Given the description of an element on the screen output the (x, y) to click on. 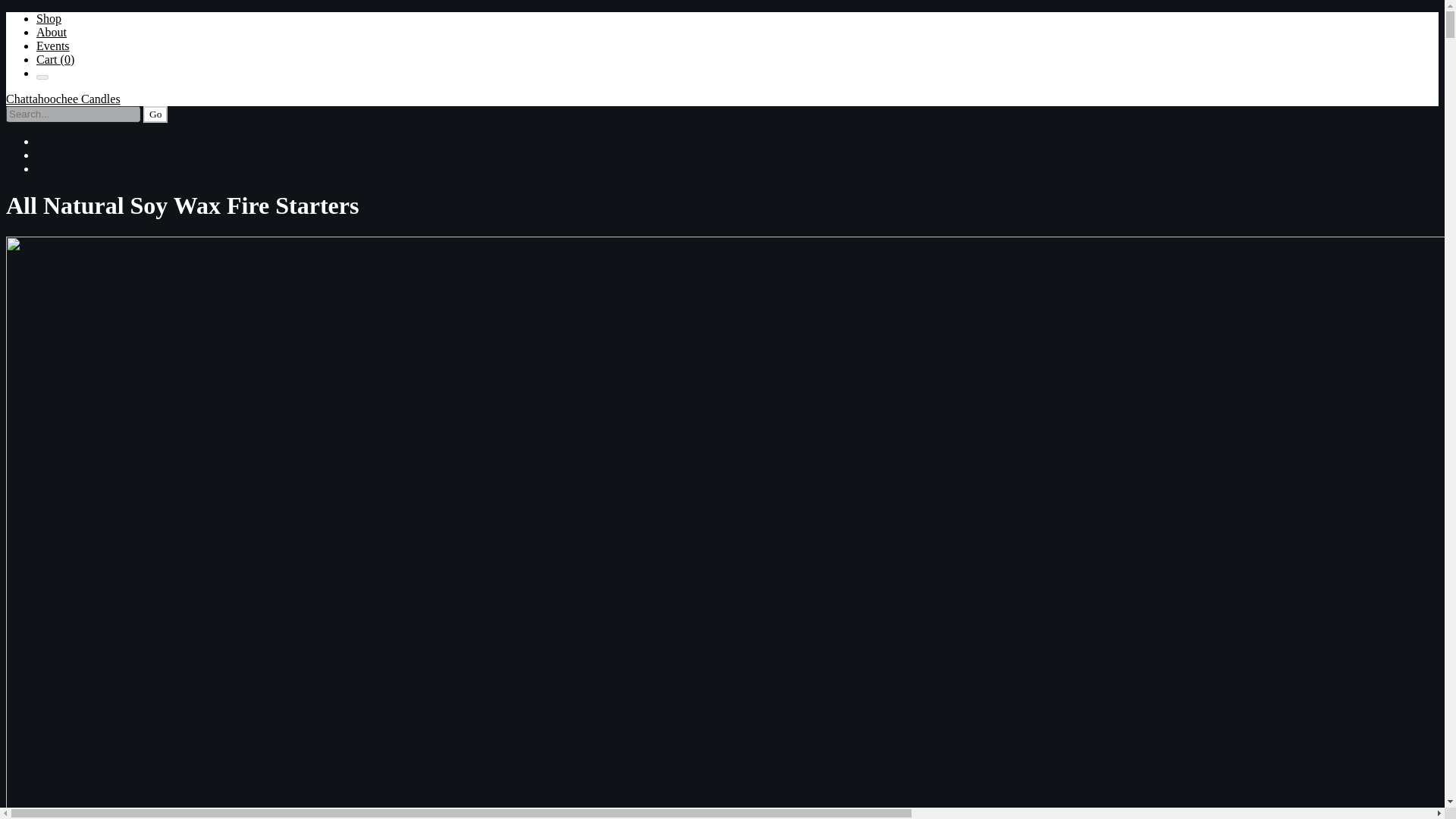
Go (154, 114)
Events (52, 45)
Go (154, 114)
Shop (48, 18)
About (51, 31)
